Given the description of an element on the screen output the (x, y) to click on. 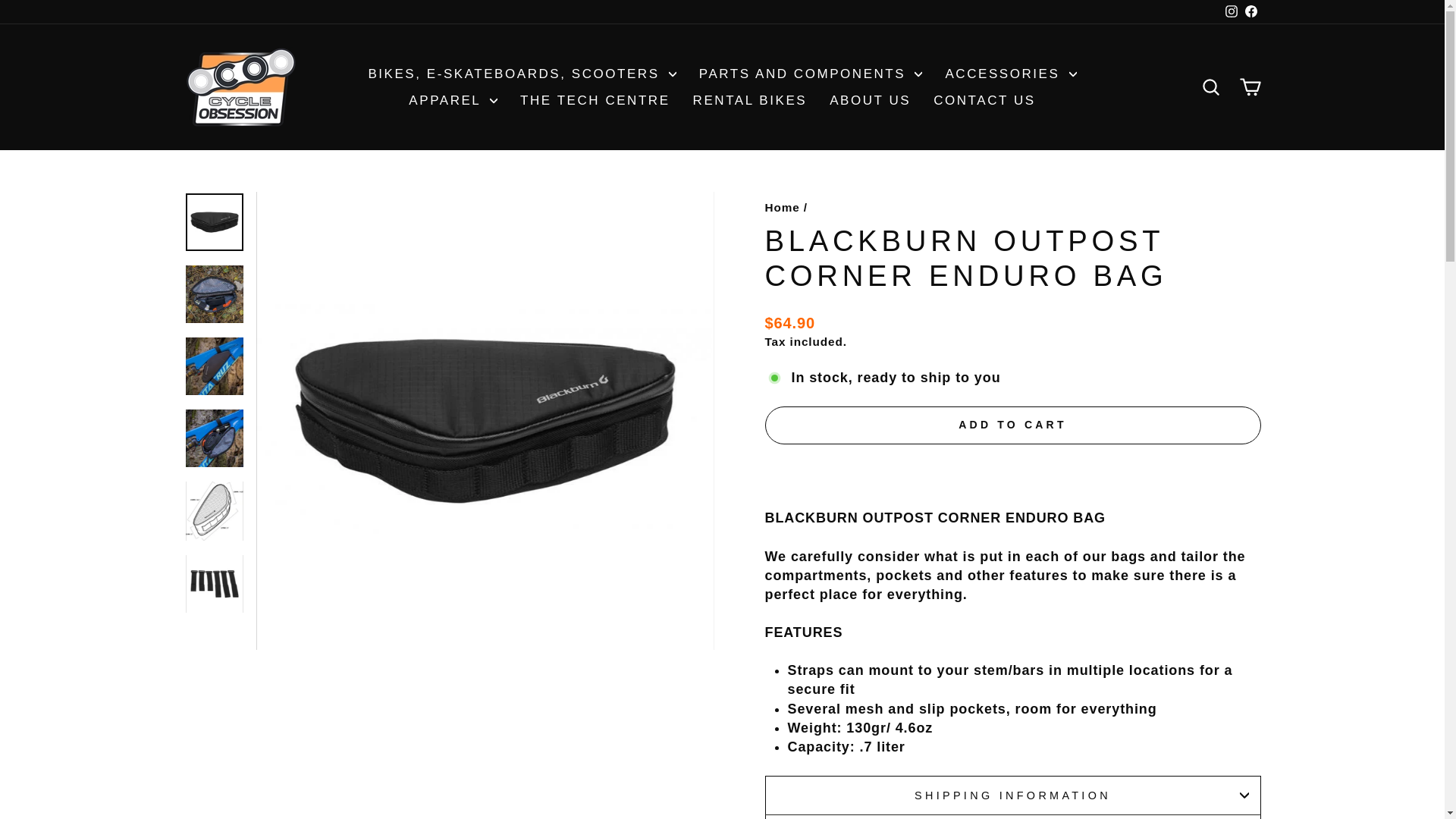
Back to the frontpage (781, 206)
ICON-SEARCH (1210, 86)
instagram (1231, 10)
